Given the description of an element on the screen output the (x, y) to click on. 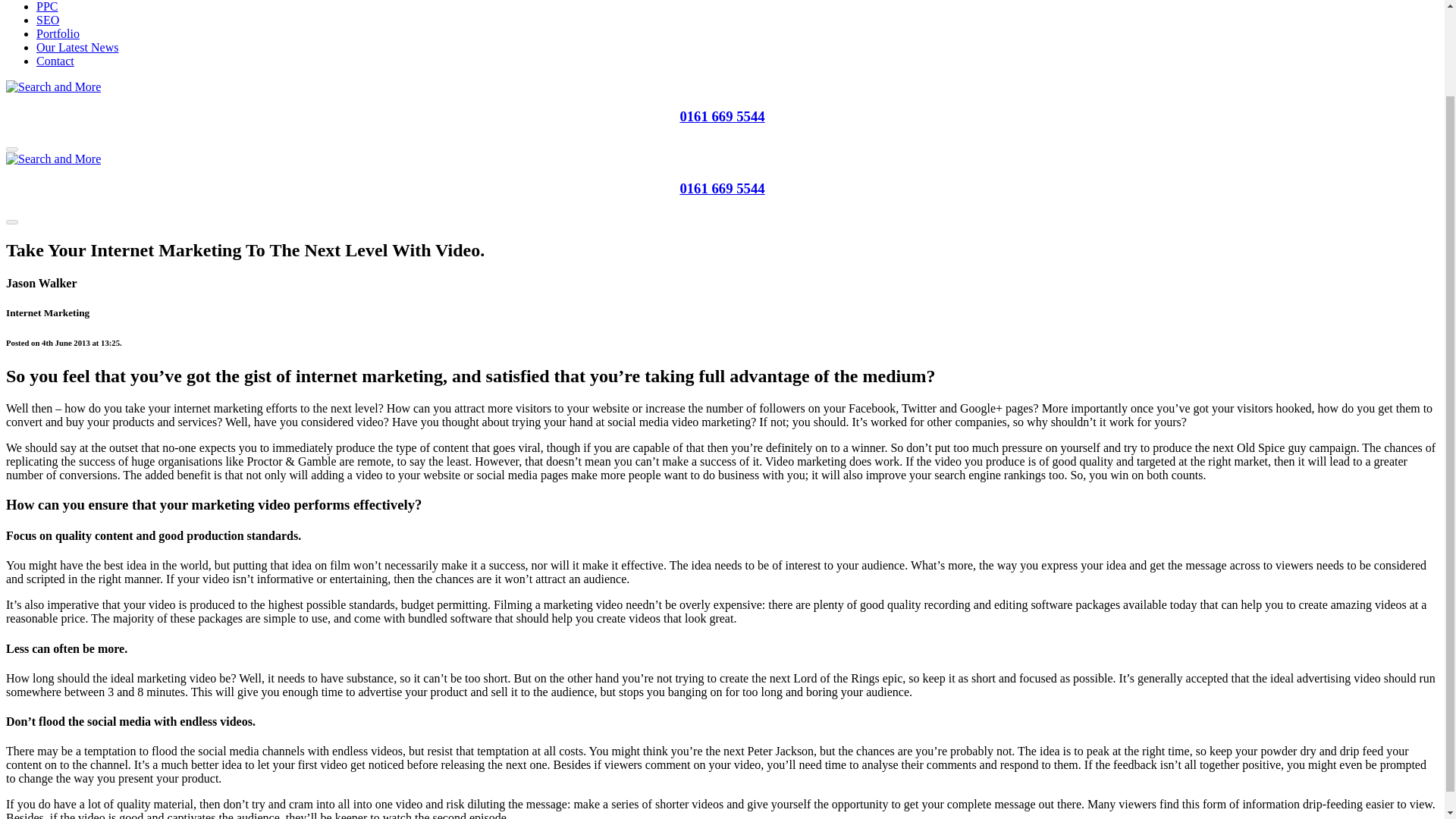
0161 669 5544 (721, 116)
PPC (47, 6)
SEO (47, 19)
Our Latest News (76, 47)
SEO (47, 19)
PPC (47, 6)
Contact (55, 60)
Portfolio (58, 33)
0161 669 5544 (721, 188)
Portfolio (58, 33)
